Given the description of an element on the screen output the (x, y) to click on. 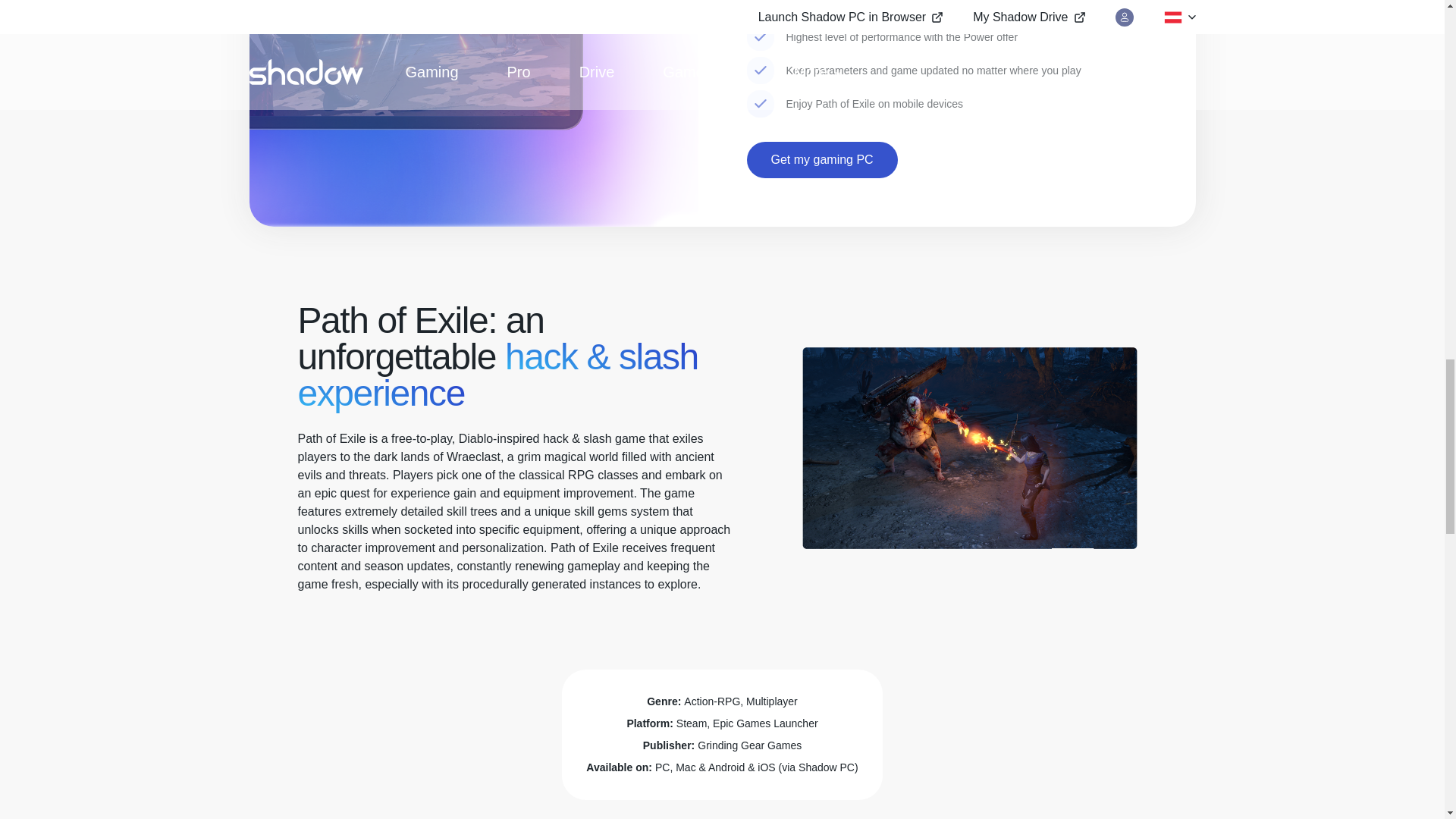
Get my gaming PC (820, 159)
